Given the description of an element on the screen output the (x, y) to click on. 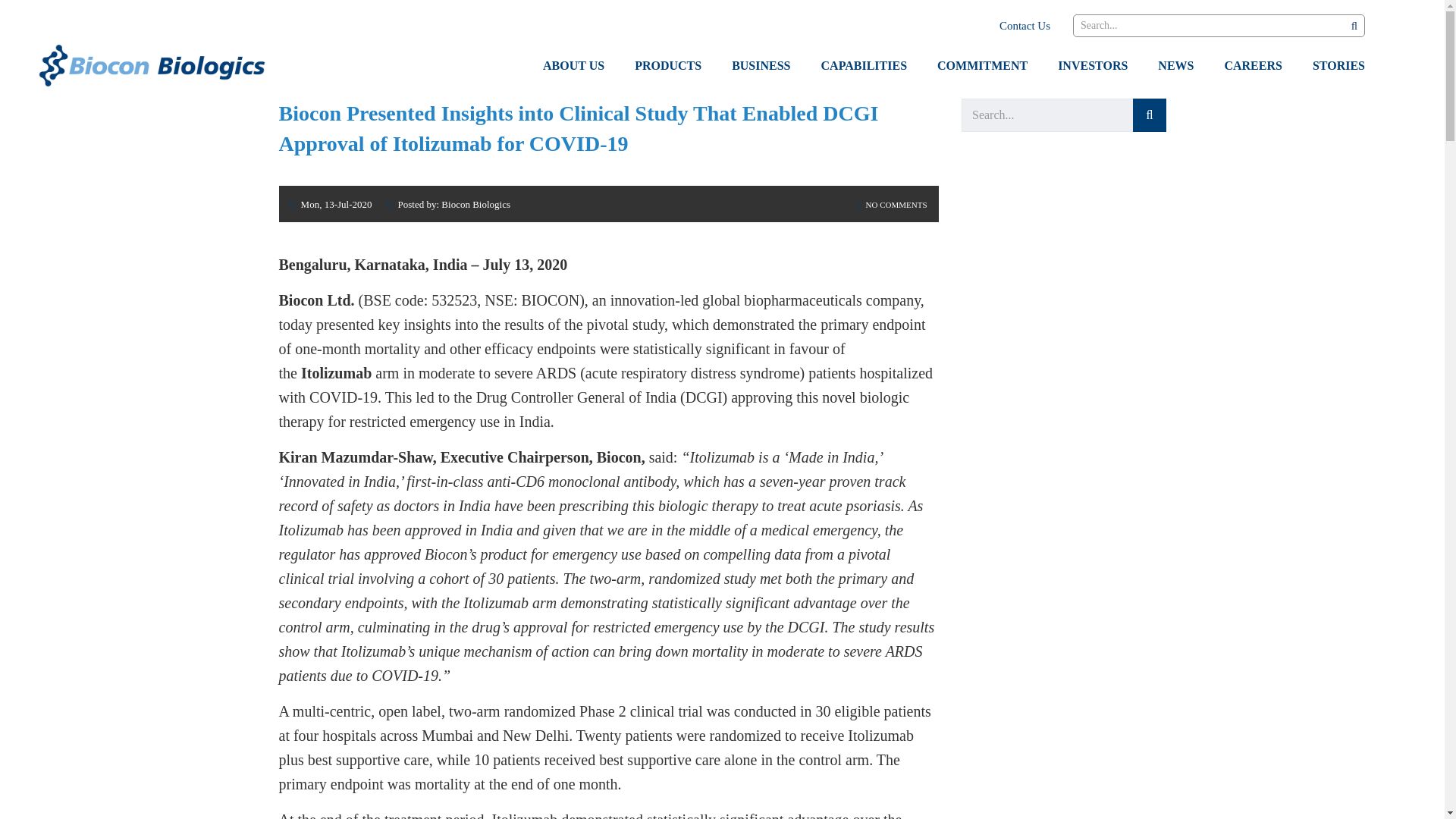
CAPABILITIES (864, 65)
COMMITMENT (981, 65)
PRODUCTS (668, 65)
Contact Us (1023, 25)
BUSINESS (760, 65)
INVESTORS (1092, 65)
ABOUT US (573, 65)
Biocon Biocologics Logo (150, 63)
